Given the description of an element on the screen output the (x, y) to click on. 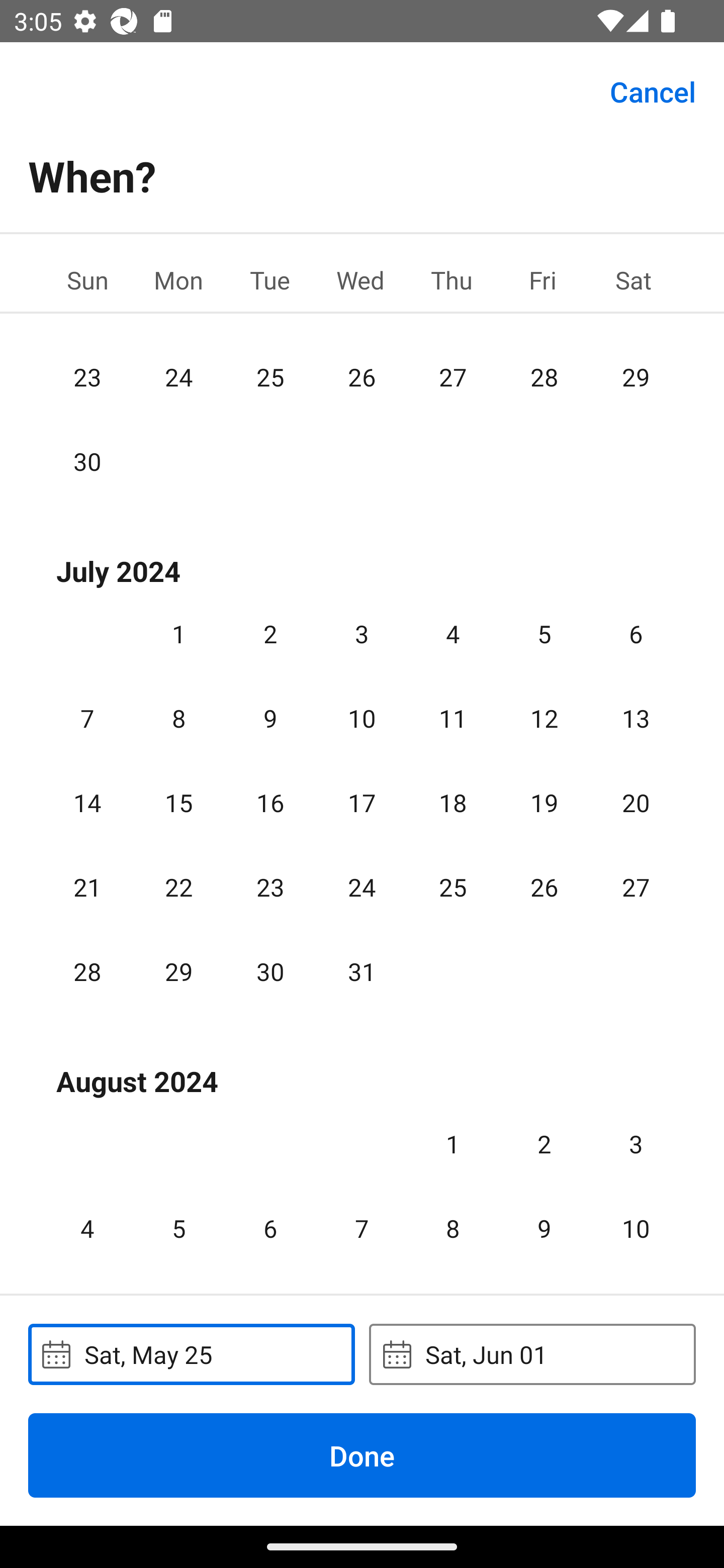
Cancel (652, 90)
Sat, May 25 (191, 1353)
Sat, Jun 01 (532, 1353)
Done (361, 1454)
